Given the description of an element on the screen output the (x, y) to click on. 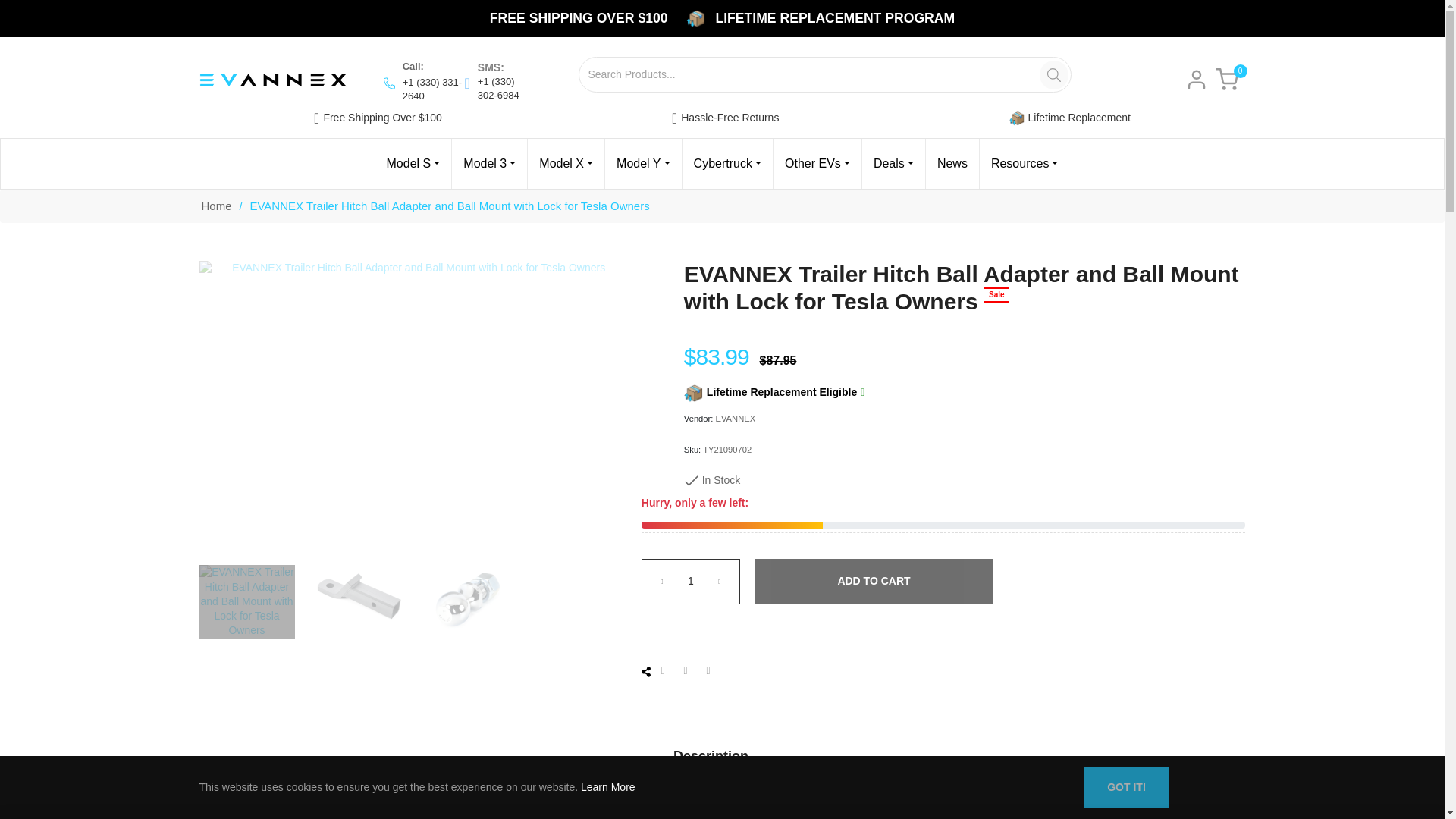
Shopping Cart (1225, 78)
Home (215, 206)
Model S (413, 163)
Model 3 (489, 163)
LIFETIME REPLACEMENT PROGRAM (834, 17)
1 (690, 581)
